Given the description of an element on the screen output the (x, y) to click on. 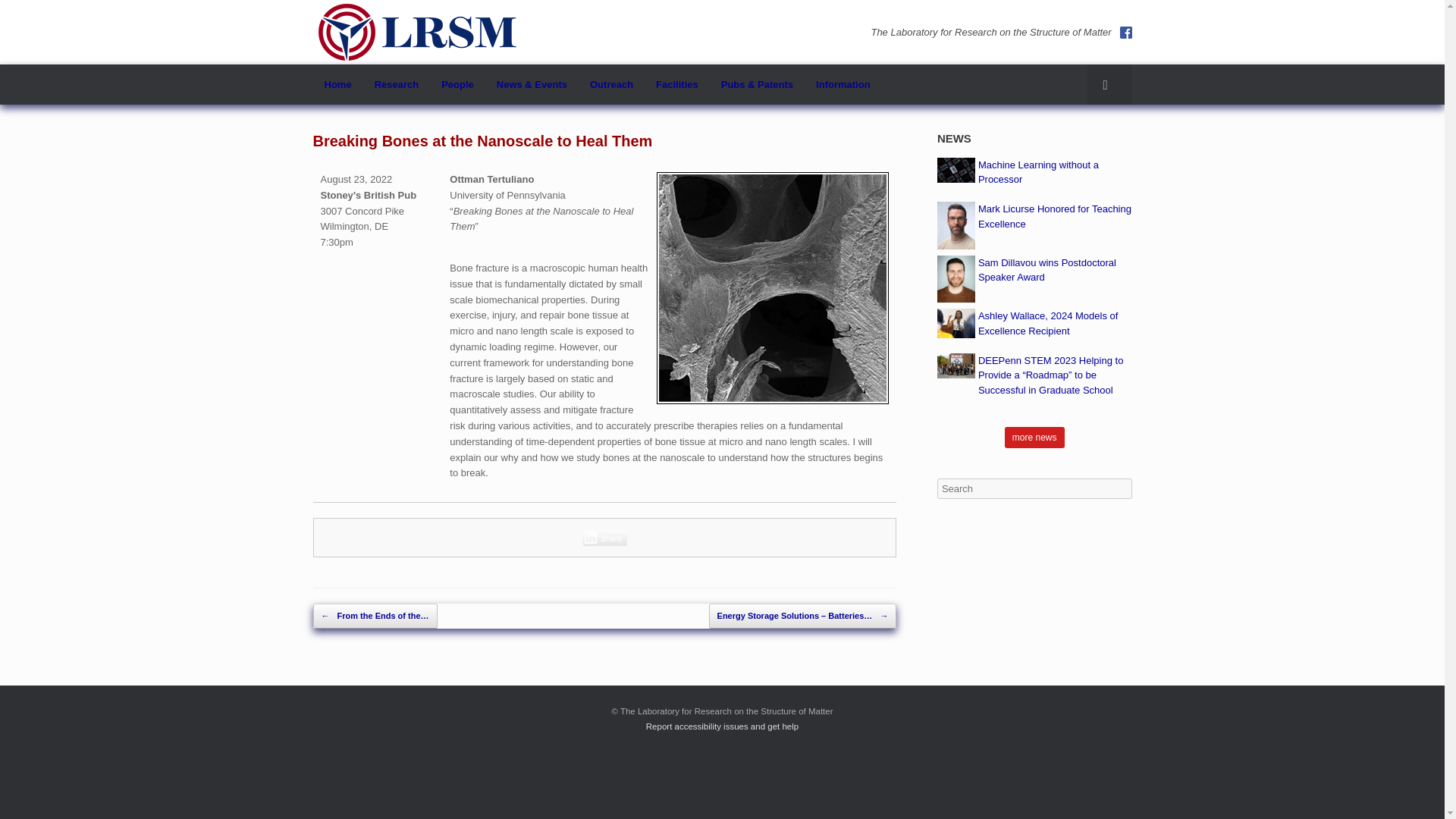
follow us on Facebook (1125, 31)
Home (337, 84)
click for news item (1038, 171)
Outreach (611, 84)
Click below for more Information (843, 84)
Research (396, 84)
LRSM (417, 32)
choose below (531, 84)
People (456, 84)
